Given the description of an element on the screen output the (x, y) to click on. 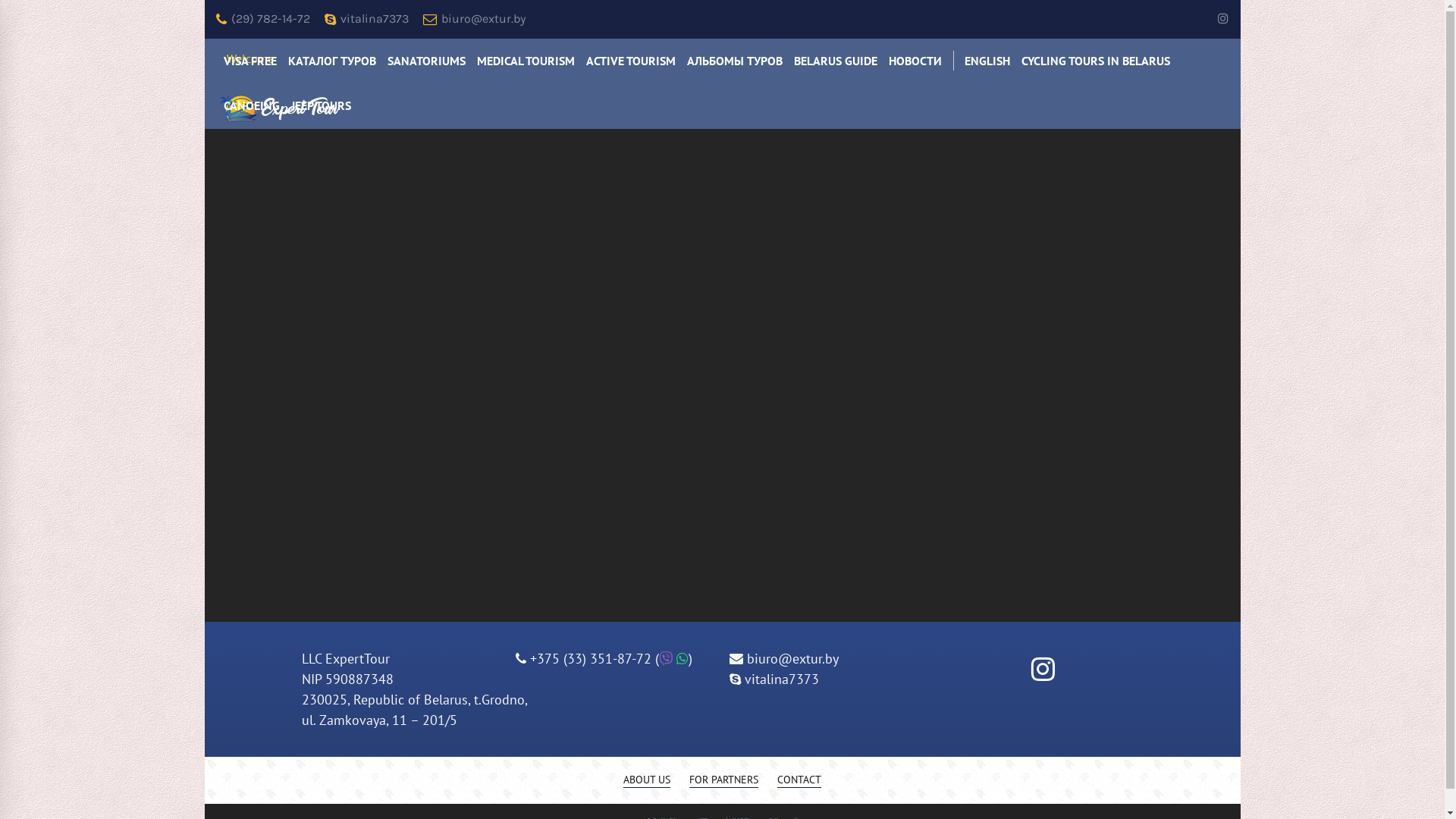
ACTIVE TOURISM Element type: text (630, 60)
biuro@extur.by Element type: text (474, 19)
+375 (33) 351-87-72 Element type: text (588, 658)
SANATORIUMS Element type: text (426, 60)
CYCLING TOURS IN BELARUS Element type: text (1095, 60)
ENGLISH Element type: text (986, 60)
vitalina7373 Element type: text (774, 678)
(29) 782-14-72 Element type: text (262, 19)
FOR PARTNERS Element type: text (723, 779)
biuro@extur.by Element type: text (783, 658)
VISA FREE Element type: text (249, 60)
CANOEING Element type: text (251, 105)
MEDICAL TOURISM Element type: text (525, 60)
vitalina7373 Element type: text (366, 19)
JEEP TOURS Element type: text (320, 105)
CONTACT Element type: text (799, 779)
ABOUT US Element type: text (646, 779)
BELARUS GUIDE Element type: text (835, 60)
